Given the description of an element on the screen output the (x, y) to click on. 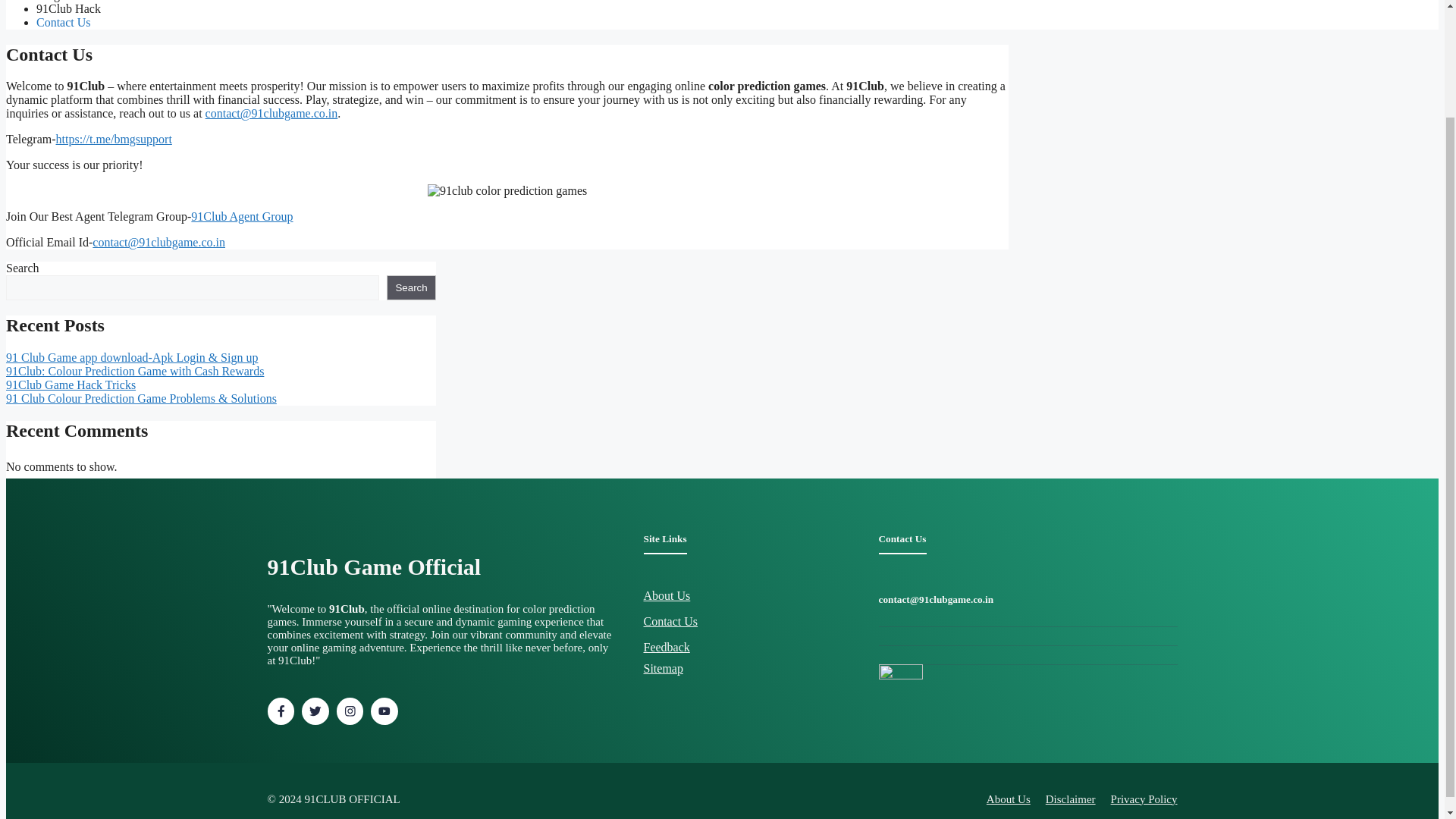
Search (411, 287)
Sitemap (662, 667)
Disclaimer (1070, 799)
91Club Game Hack Tricks (70, 384)
Feedback (665, 646)
91Club: Colour Prediction Game with Cash Rewards (134, 370)
Privacy Policy (1143, 799)
Contact Us (63, 21)
91Club Hack (68, 8)
About Us (666, 594)
